Given the description of an element on the screen output the (x, y) to click on. 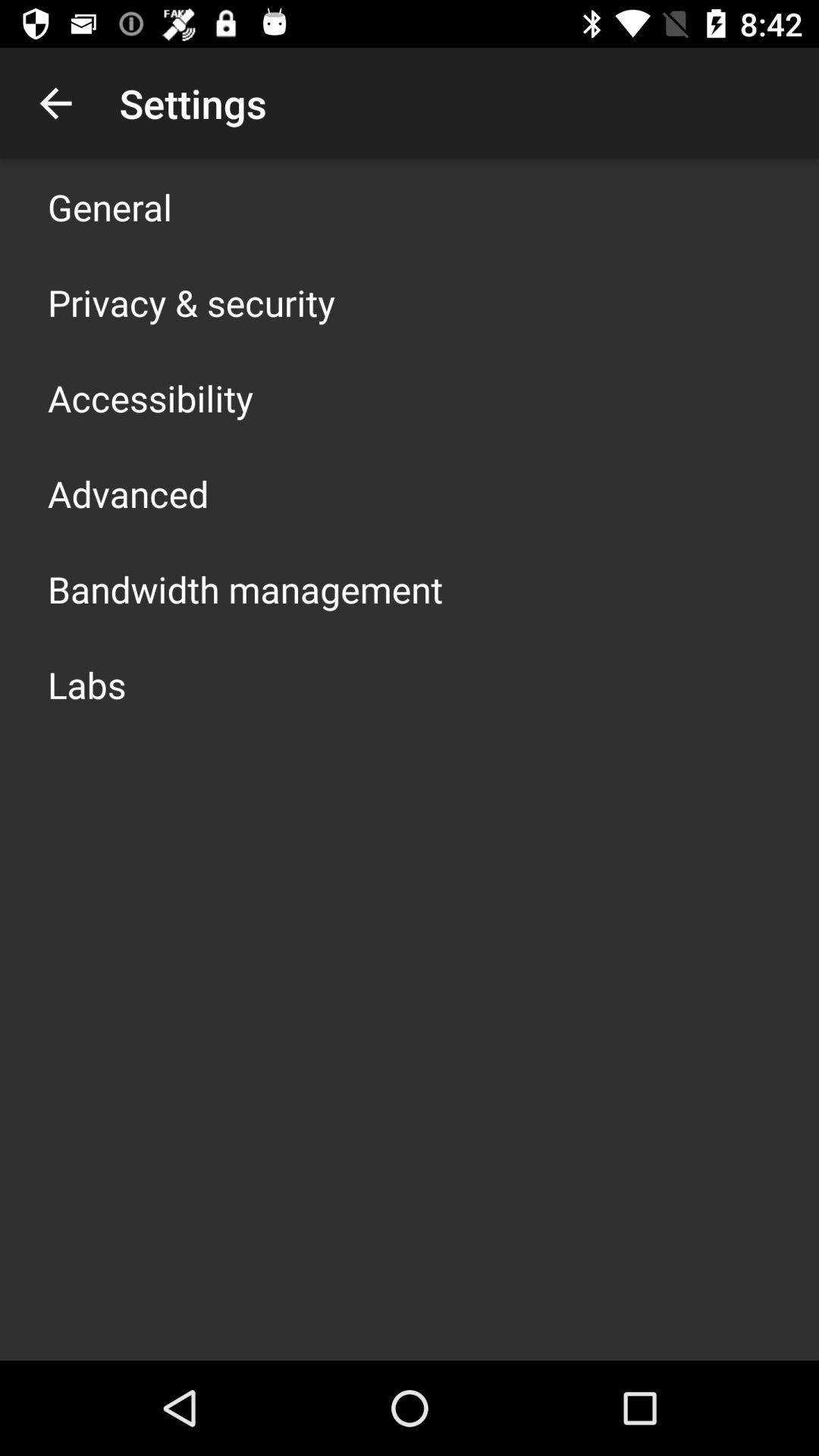
press item above general item (55, 103)
